Given the description of an element on the screen output the (x, y) to click on. 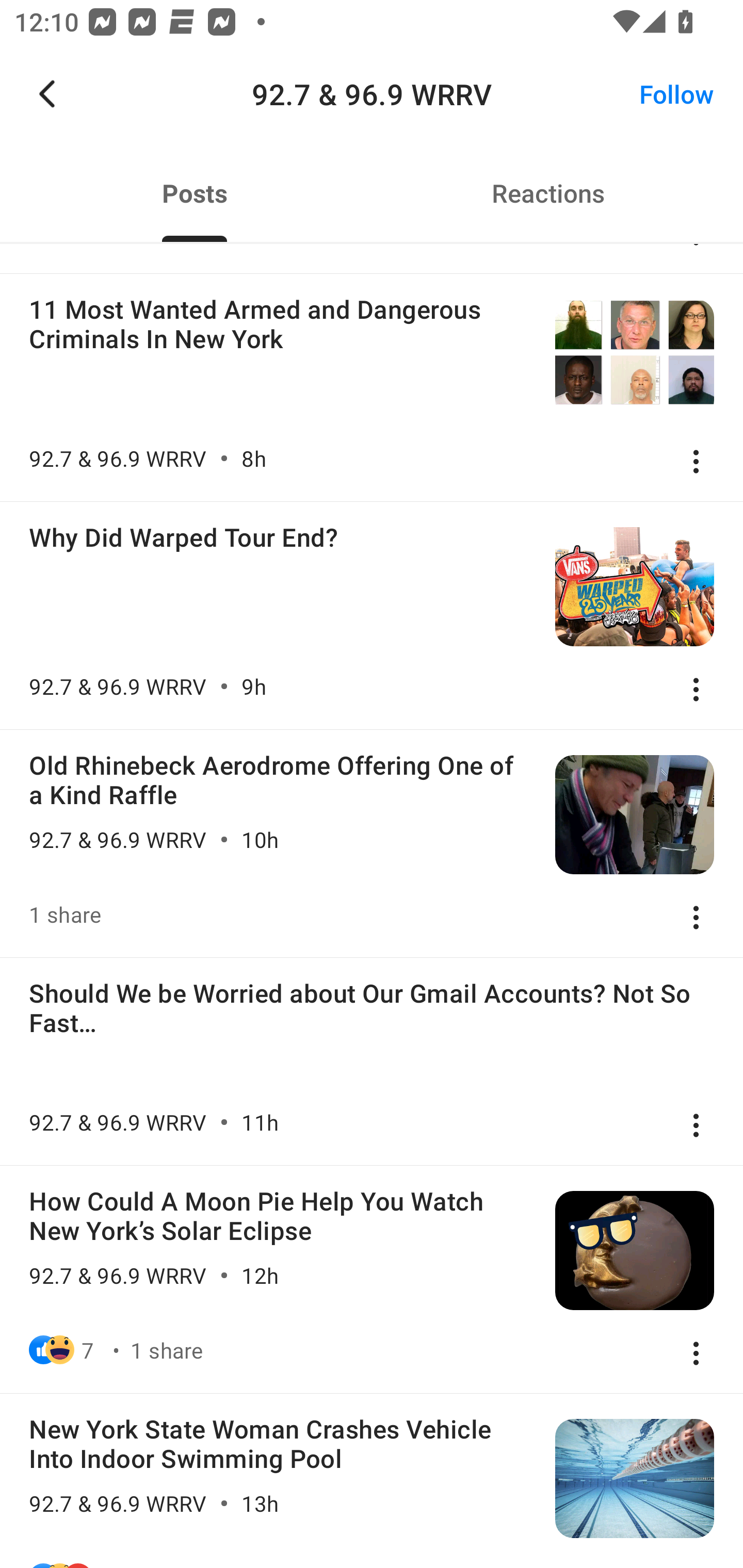
Follow (676, 93)
Reactions (548, 192)
Why Did Warped Tour End? 92.7 & 96.9 WRRV 9h (371, 615)
